Given the description of an element on the screen output the (x, y) to click on. 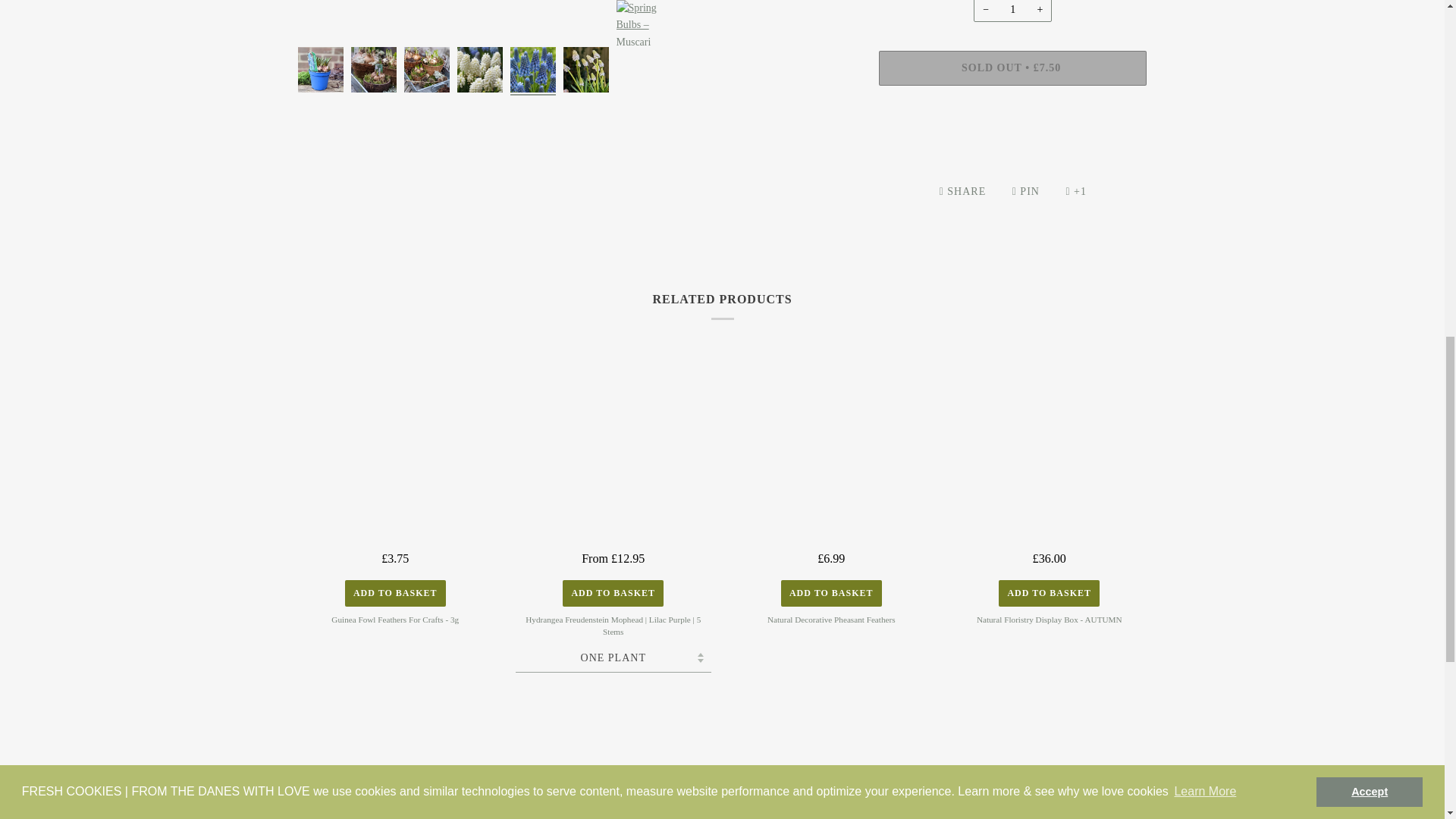
1 (1012, 11)
